Given the description of an element on the screen output the (x, y) to click on. 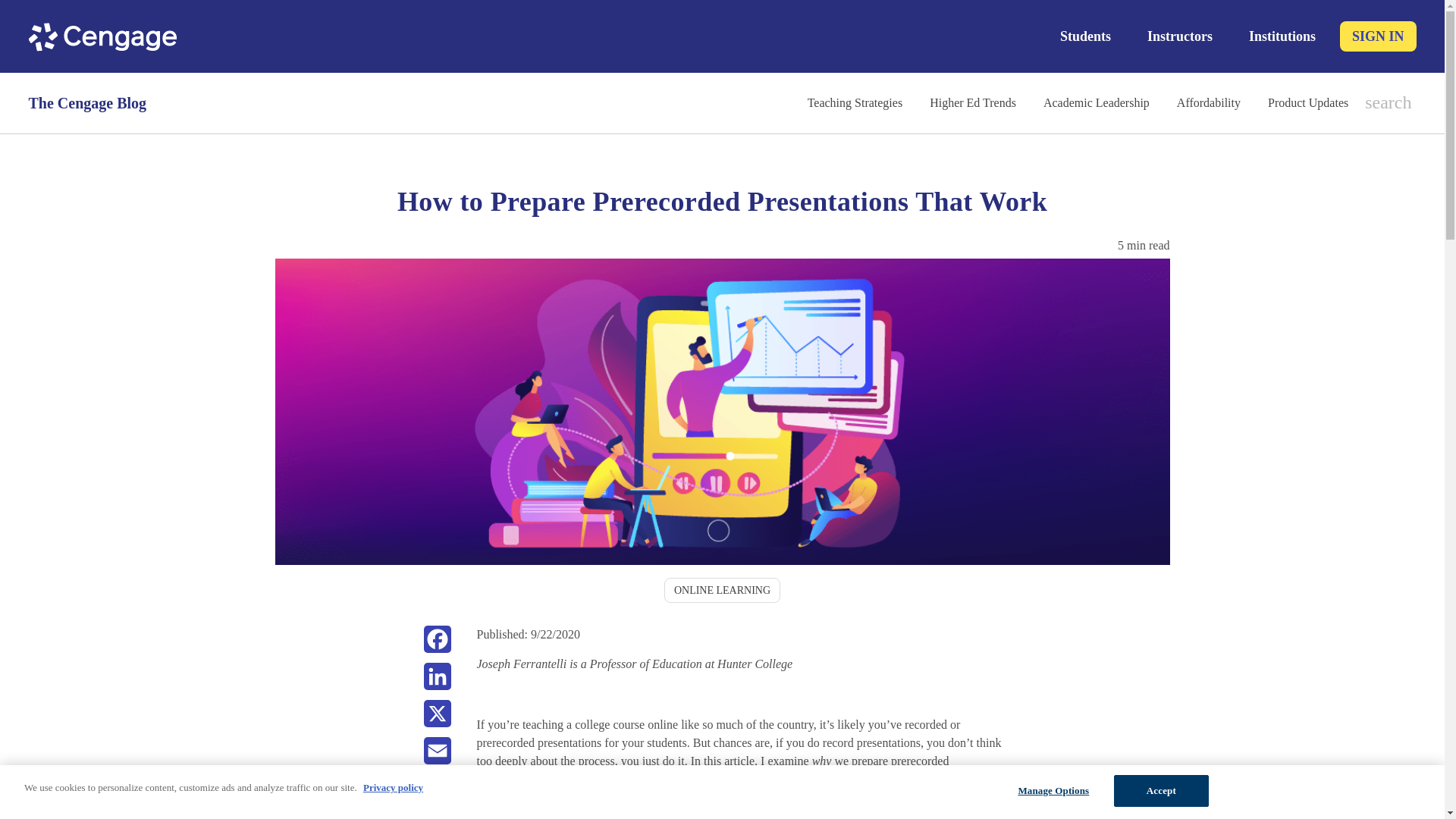
LinkedIn (436, 681)
LinkedIn (436, 681)
Email (436, 755)
Academic Leadership (1095, 102)
Institutions (1281, 36)
X (436, 718)
Product Updates (1307, 102)
Instructors (1179, 36)
Students (1085, 36)
ONLINE LEARNING (721, 590)
